Given the description of an element on the screen output the (x, y) to click on. 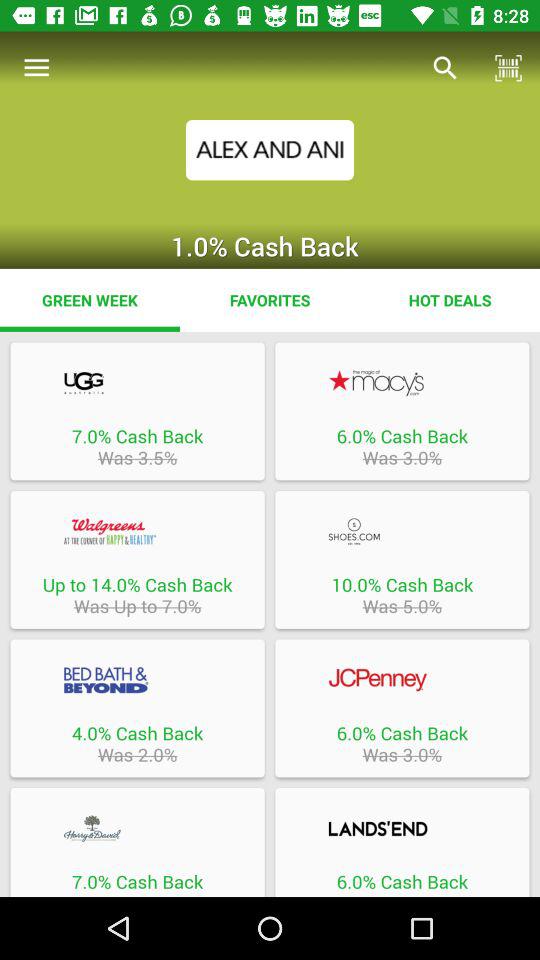
launch the green week icon (90, 299)
